Given the description of an element on the screen output the (x, y) to click on. 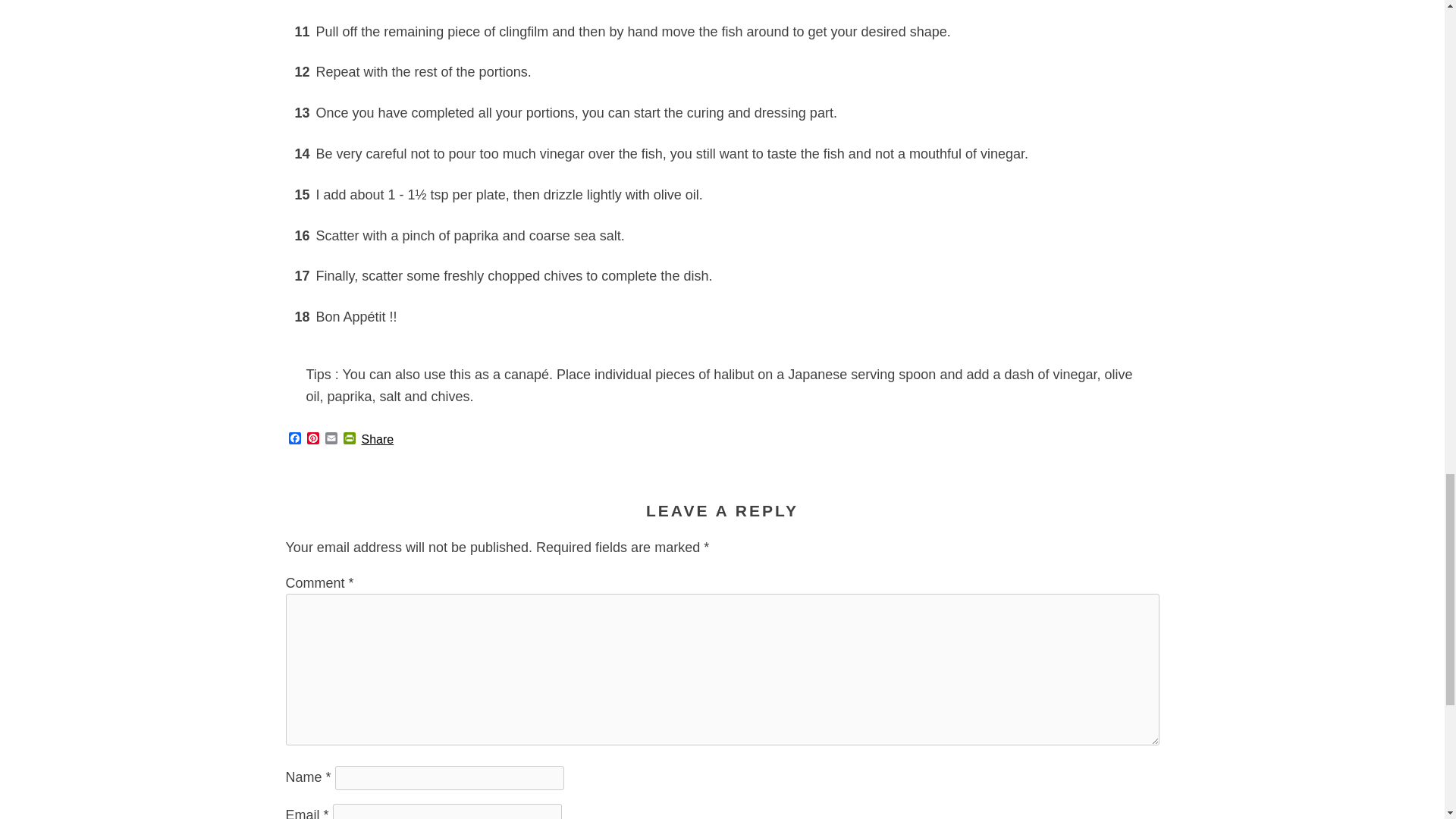
Share (377, 439)
Pinterest (311, 439)
Email (330, 439)
Pinterest (311, 439)
PrintFriendly (348, 439)
Email (330, 439)
Facebook (293, 439)
Facebook (293, 439)
PrintFriendly (348, 439)
